Given the description of an element on the screen output the (x, y) to click on. 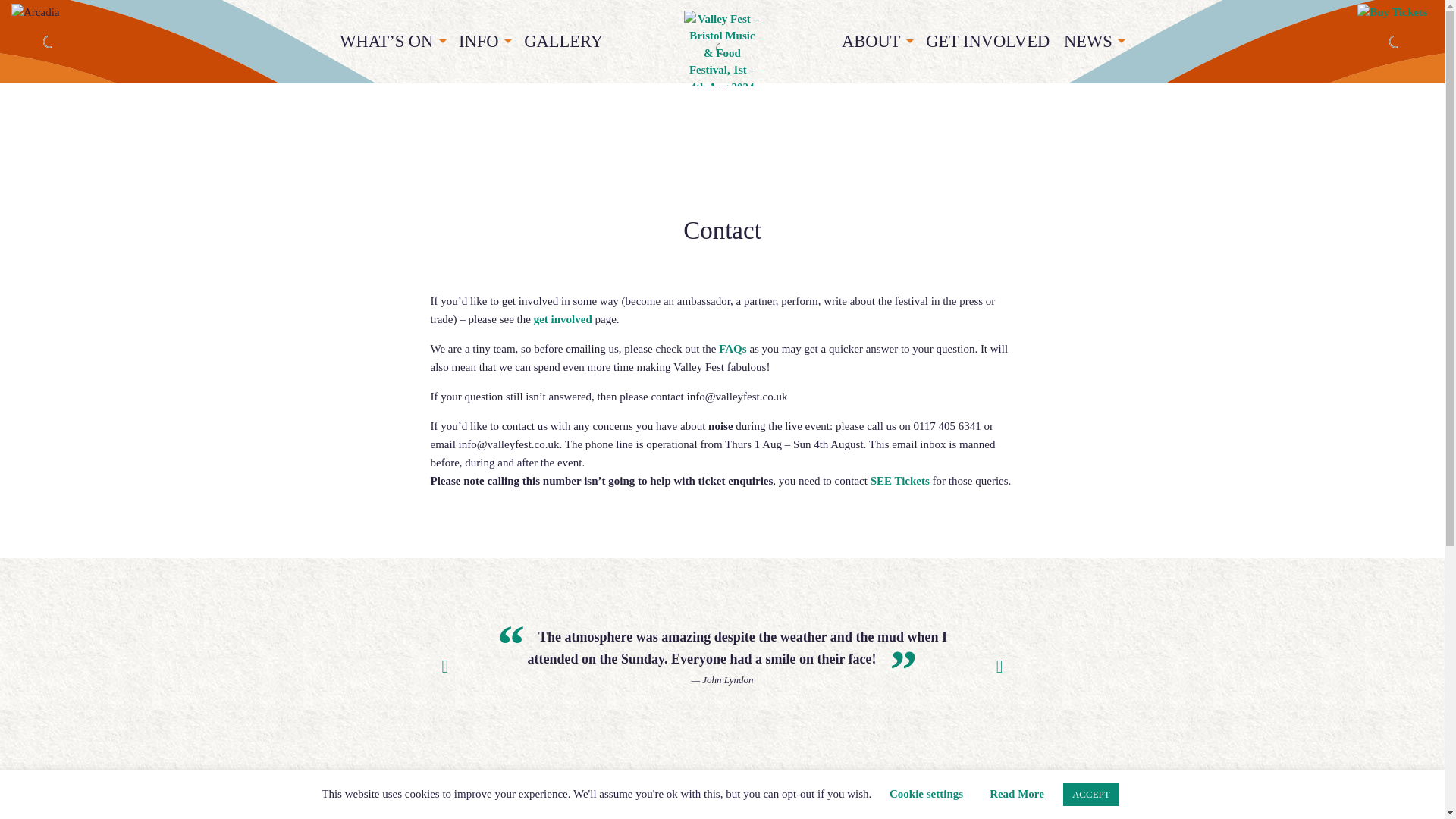
INFO (484, 42)
